Given the description of an element on the screen output the (x, y) to click on. 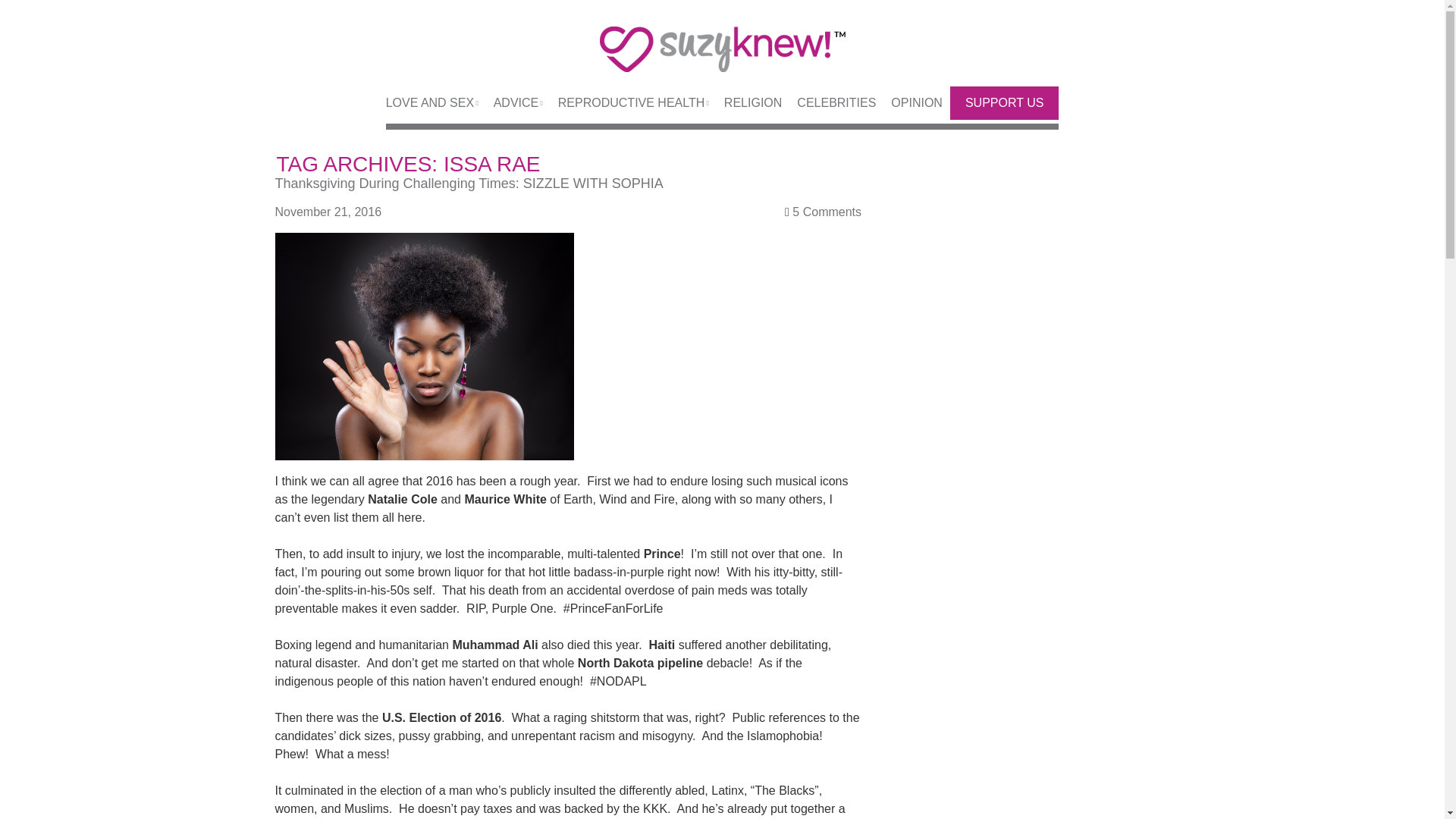
SUPPORT US (1004, 102)
RELIGION (745, 103)
OPINION (909, 103)
LOVE AND SEX (432, 103)
November 21, 2016 (335, 211)
REPRODUCTIVE HEALTH (626, 103)
CELEBRITIES (828, 103)
ADVICE (511, 103)
5 Comments (826, 211)
SuzyKnew (721, 58)
Thanksgiving During Challenging Times: SIZZLE WITH SOPHIA (468, 183)
